Given the description of an element on the screen output the (x, y) to click on. 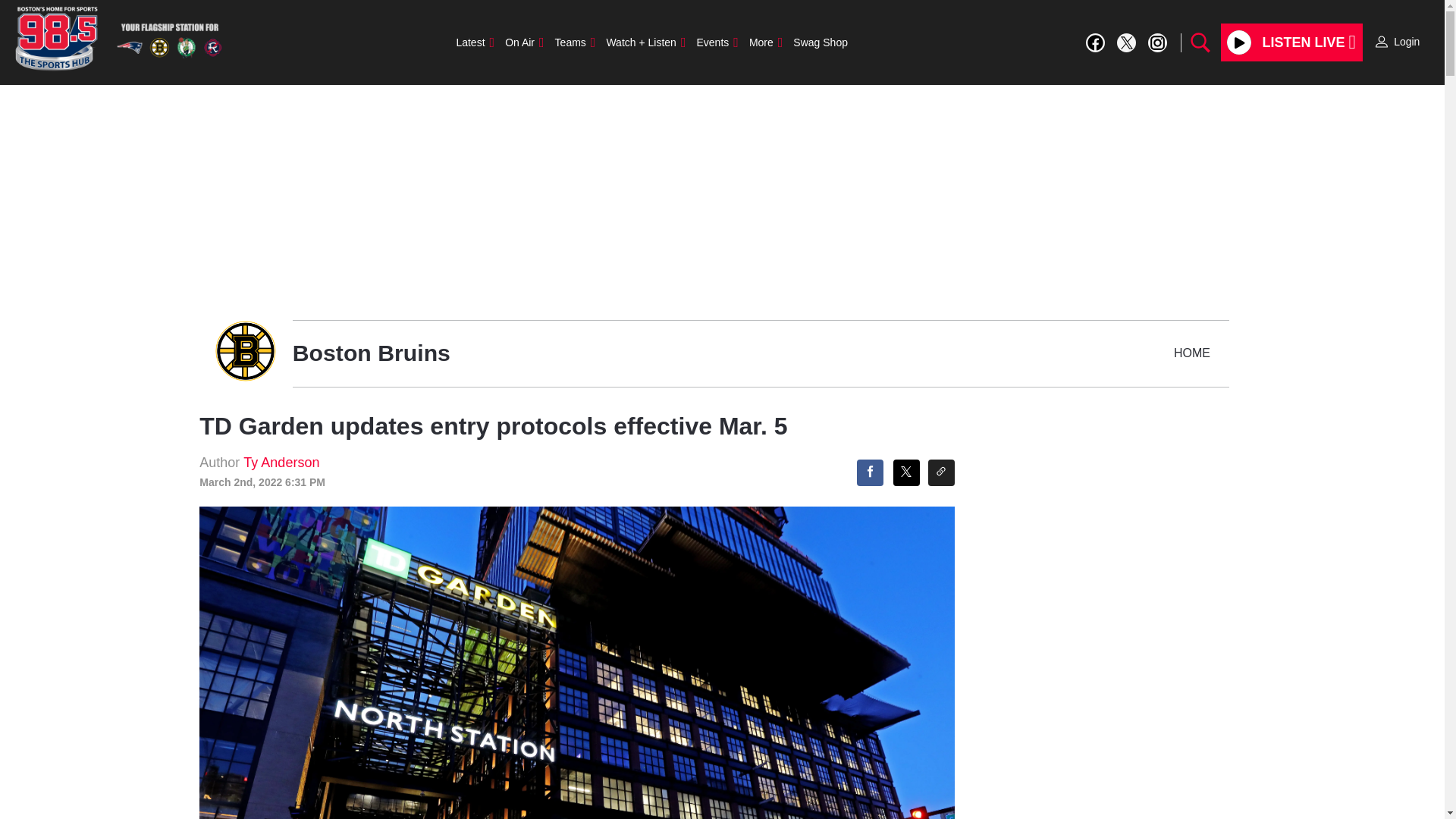
Ty Anderson (280, 462)
On Air (523, 42)
Latest (474, 42)
Teams (575, 42)
